Given the description of an element on the screen output the (x, y) to click on. 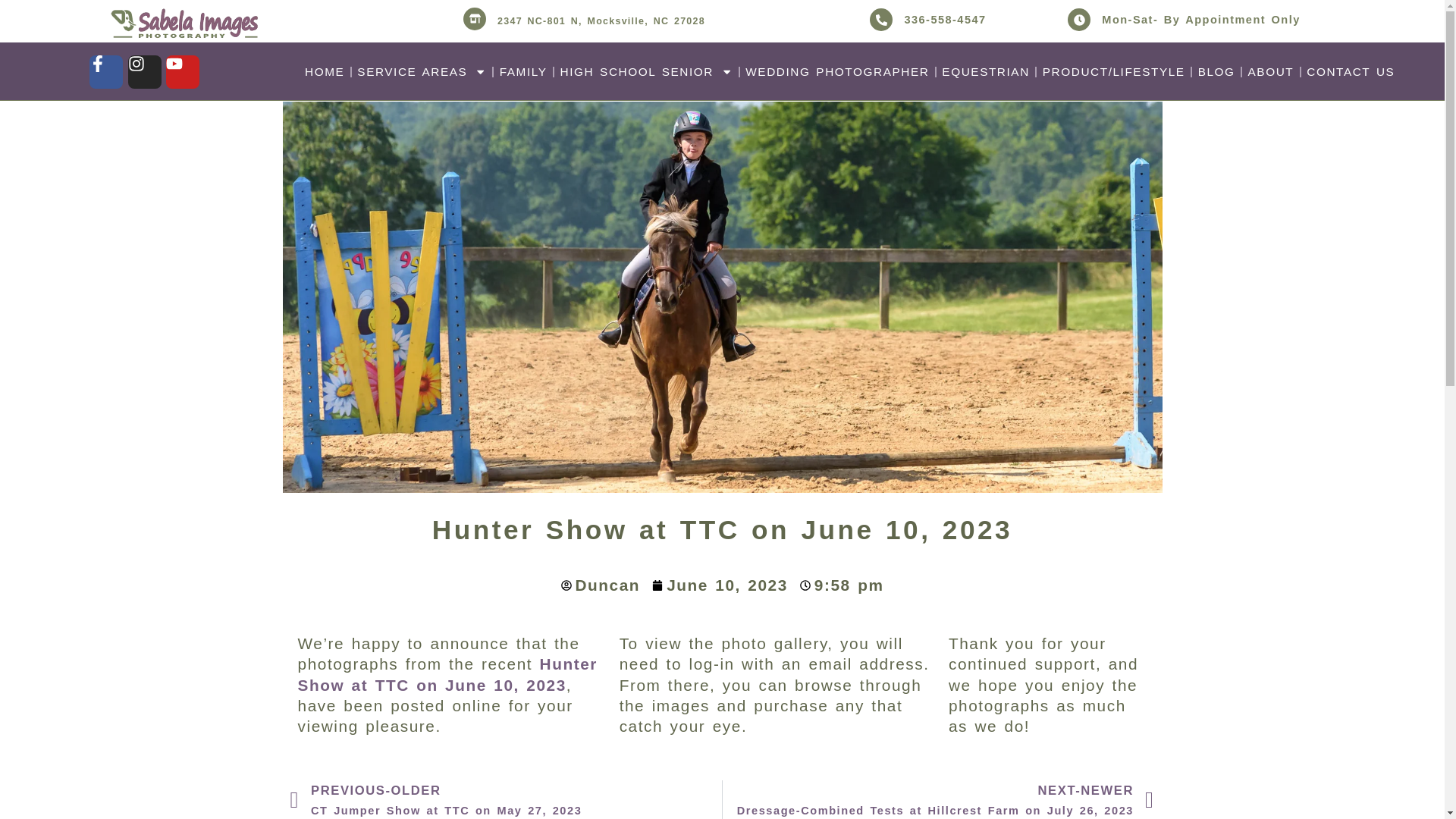
WEDDING PHOTOGRAPHER (837, 71)
HOME (324, 71)
ABOUT (1271, 71)
EQUESTRIAN (984, 71)
SERVICE AREAS (421, 71)
CONTACT US (1350, 71)
BLOG (1216, 71)
FAMILY (523, 71)
HIGH SCHOOL SENIOR (646, 71)
